Given the description of an element on the screen output the (x, y) to click on. 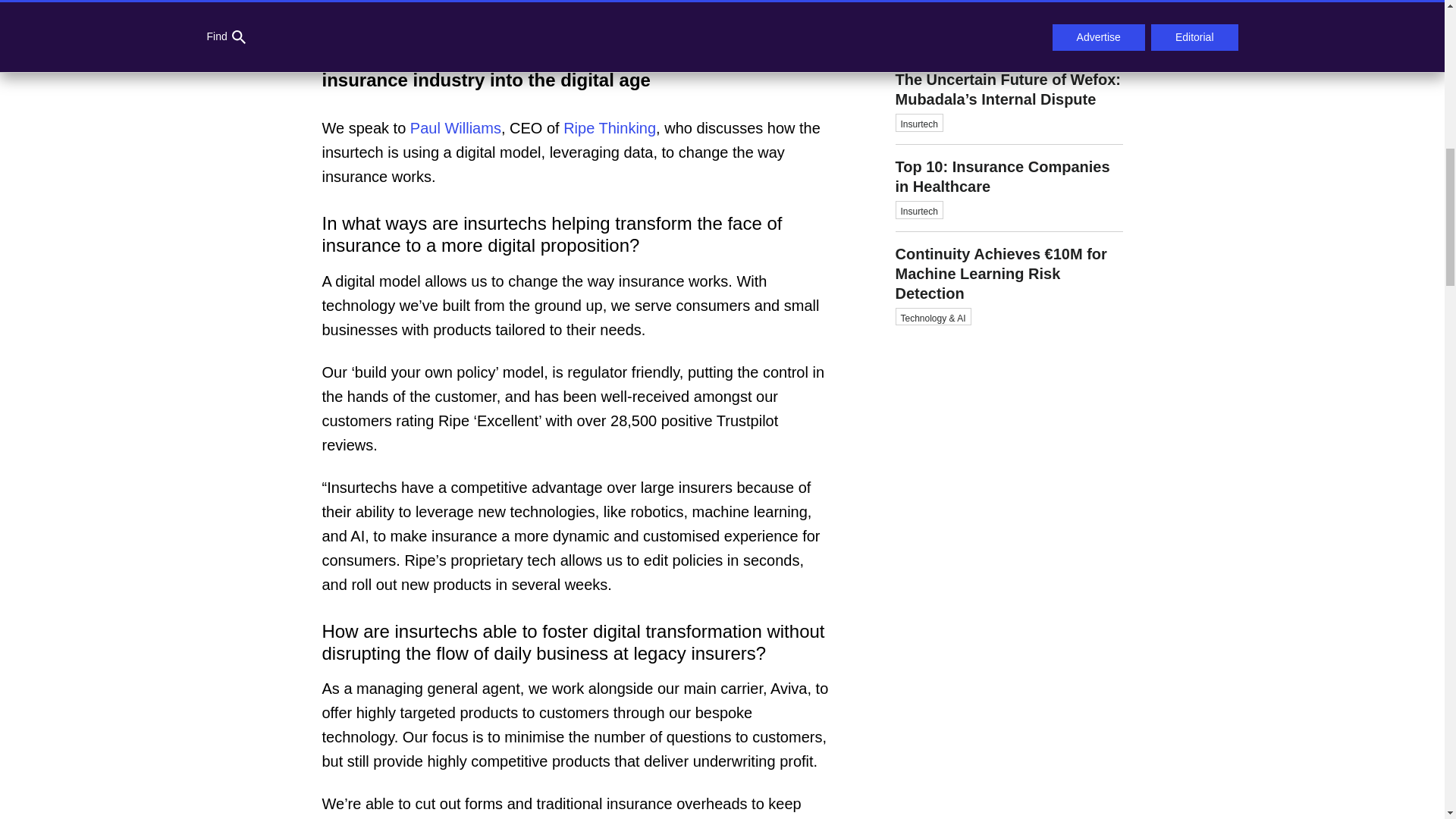
Ripe Thinking (609, 127)
Paul Williams (1008, 187)
